Given the description of an element on the screen output the (x, y) to click on. 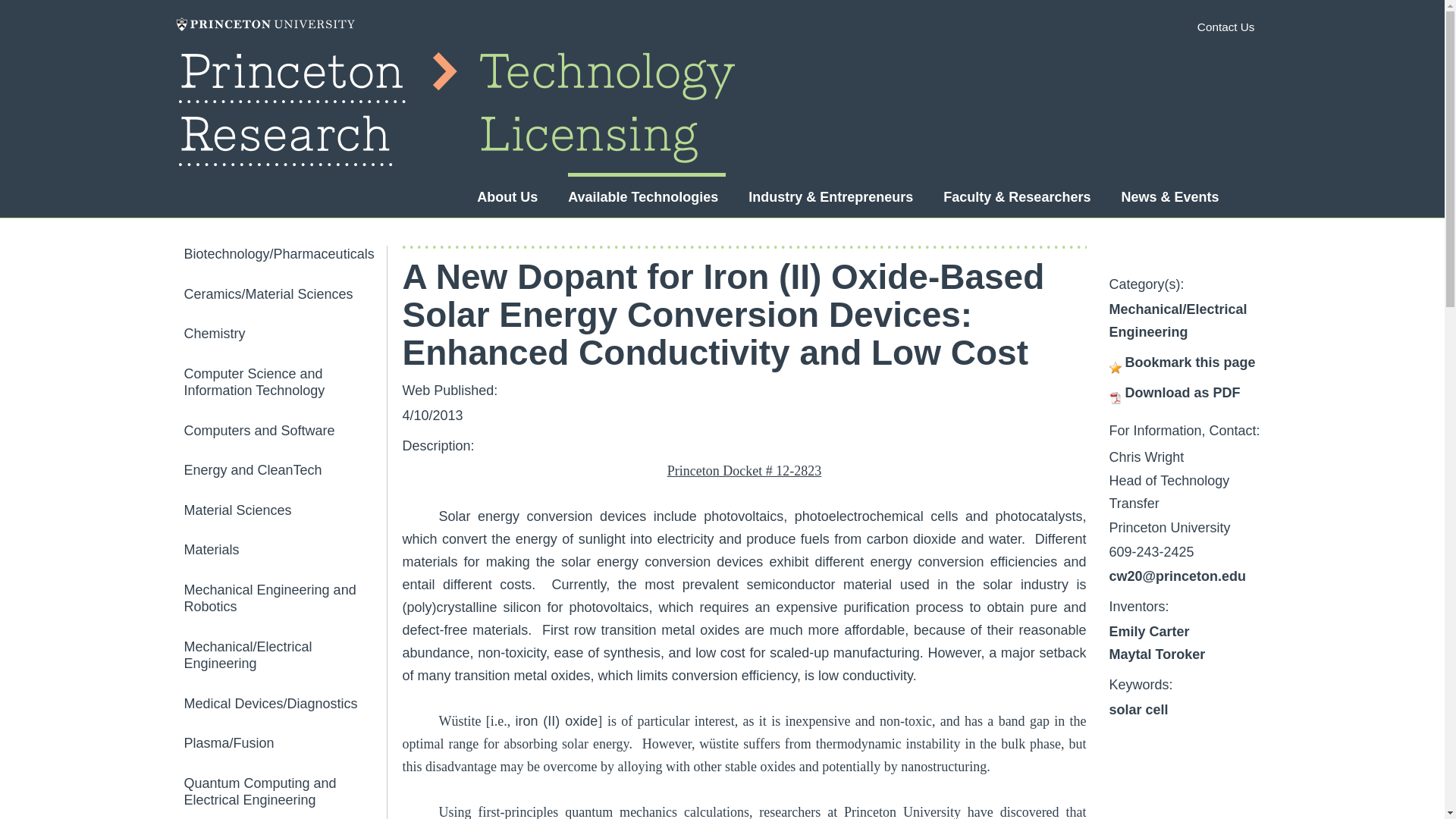
About Us (507, 196)
Computer Science and Information Technology (284, 382)
Computers and Software (284, 429)
Mechanical Engineering and Robotics (284, 597)
Materials (284, 549)
Emily Carter (1148, 631)
Available Technologies (642, 196)
Energy and CleanTech (284, 470)
Download as PDF (1182, 392)
Princeton University (264, 24)
Material Sciences (284, 510)
Maytal Toroker (1156, 654)
Bookmark this page (1190, 362)
Quantum Computing and Electrical Engineering (284, 791)
solar cell (1137, 709)
